Given the description of an element on the screen output the (x, y) to click on. 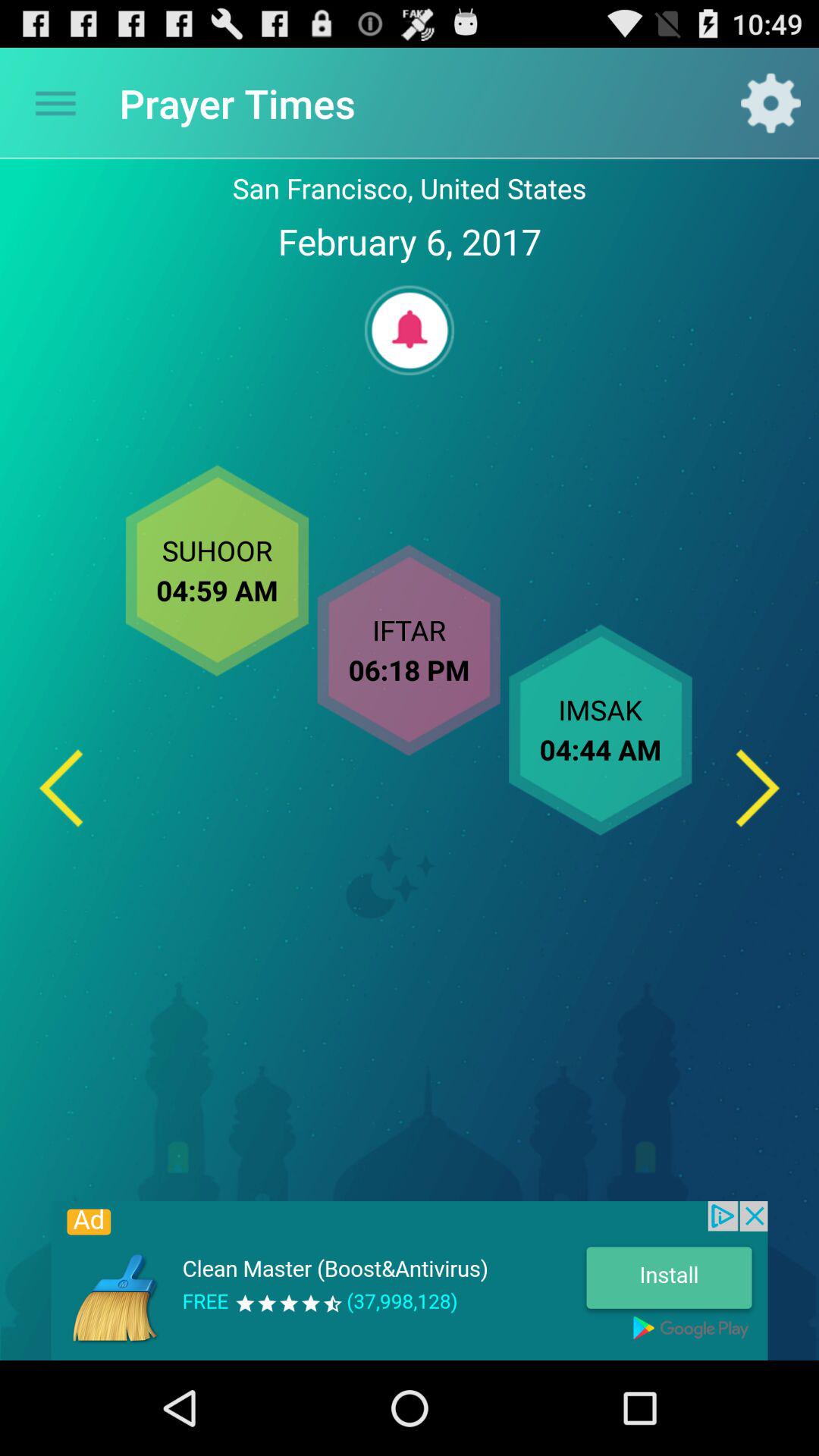
go to advertisement (409, 1280)
